Given the description of an element on the screen output the (x, y) to click on. 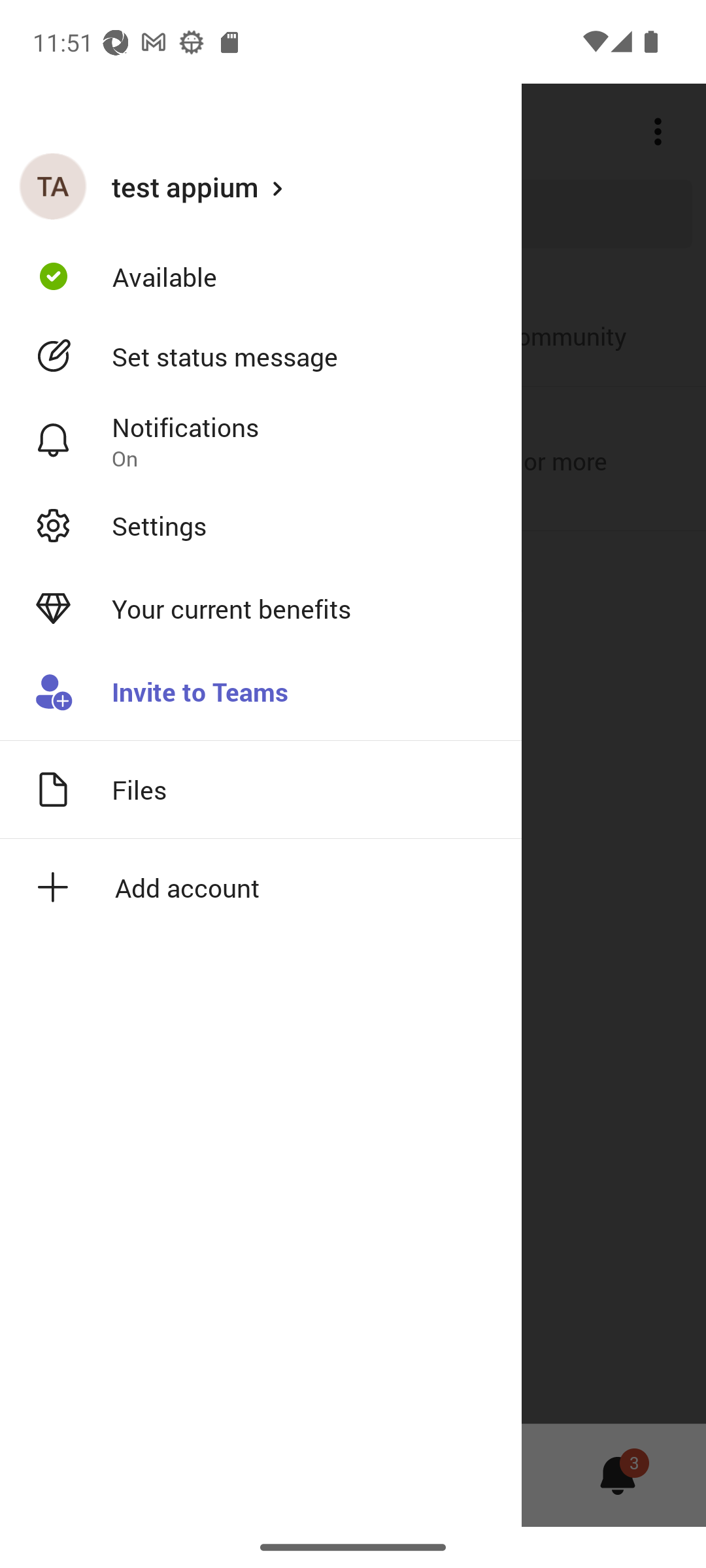
test appium (260, 186)
test appium profile picture (53, 186)
Notifications Notification settings On (260, 441)
Settings Open settings (260, 525)
Your current benefits (260, 608)
Invite to Teams Invite someone to your Teams org (260, 691)
Files (260, 789)
Add account icon Add account (260, 887)
